Given the description of an element on the screen output the (x, y) to click on. 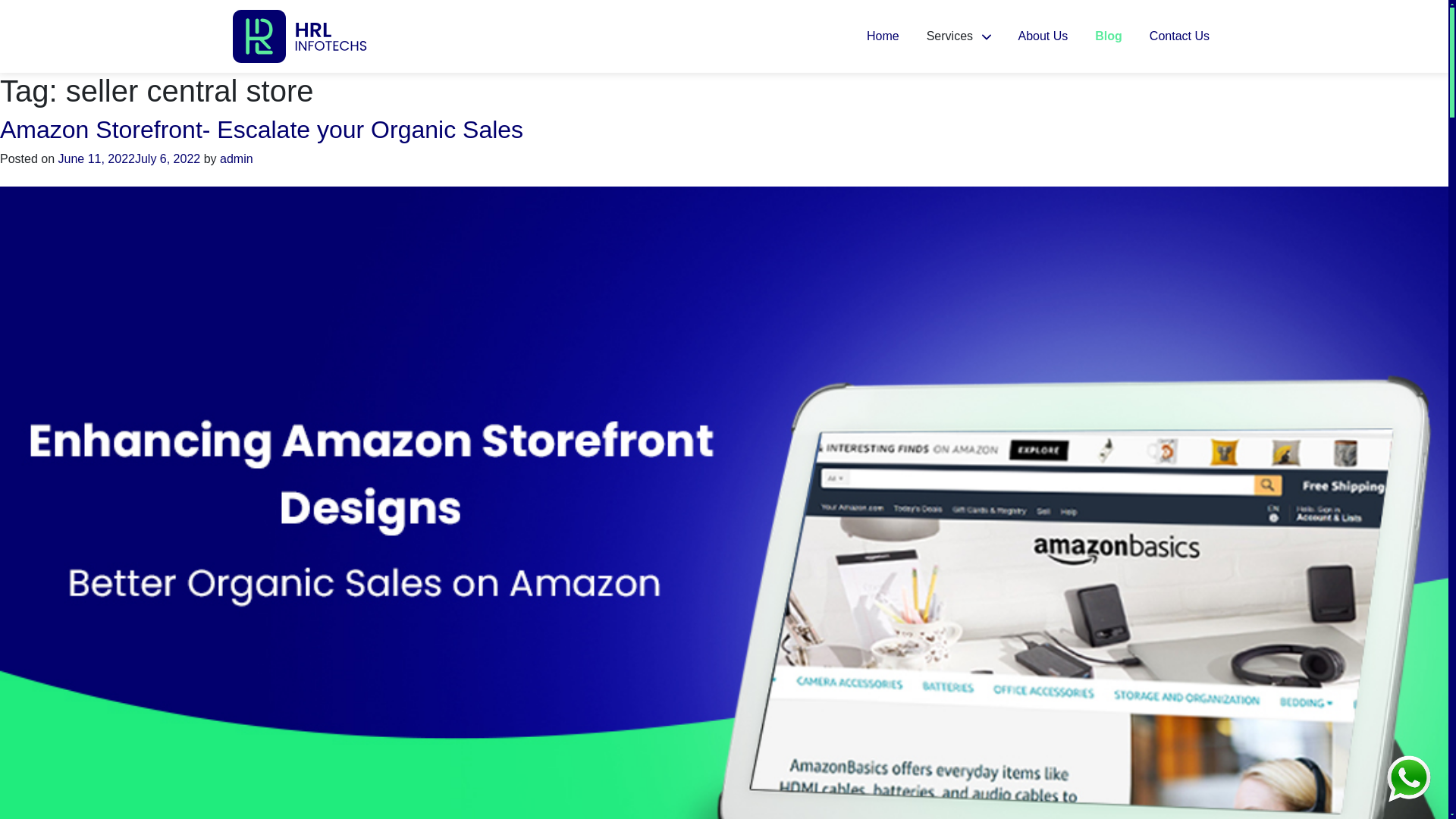
Home (882, 36)
About Us (1042, 36)
Amazon Storefront- Escalate your Organic Sales (261, 129)
Blog (1108, 36)
Contact Us (1178, 36)
Services (958, 35)
admin (236, 158)
June 11, 2022July 6, 2022 (129, 158)
